Given the description of an element on the screen output the (x, y) to click on. 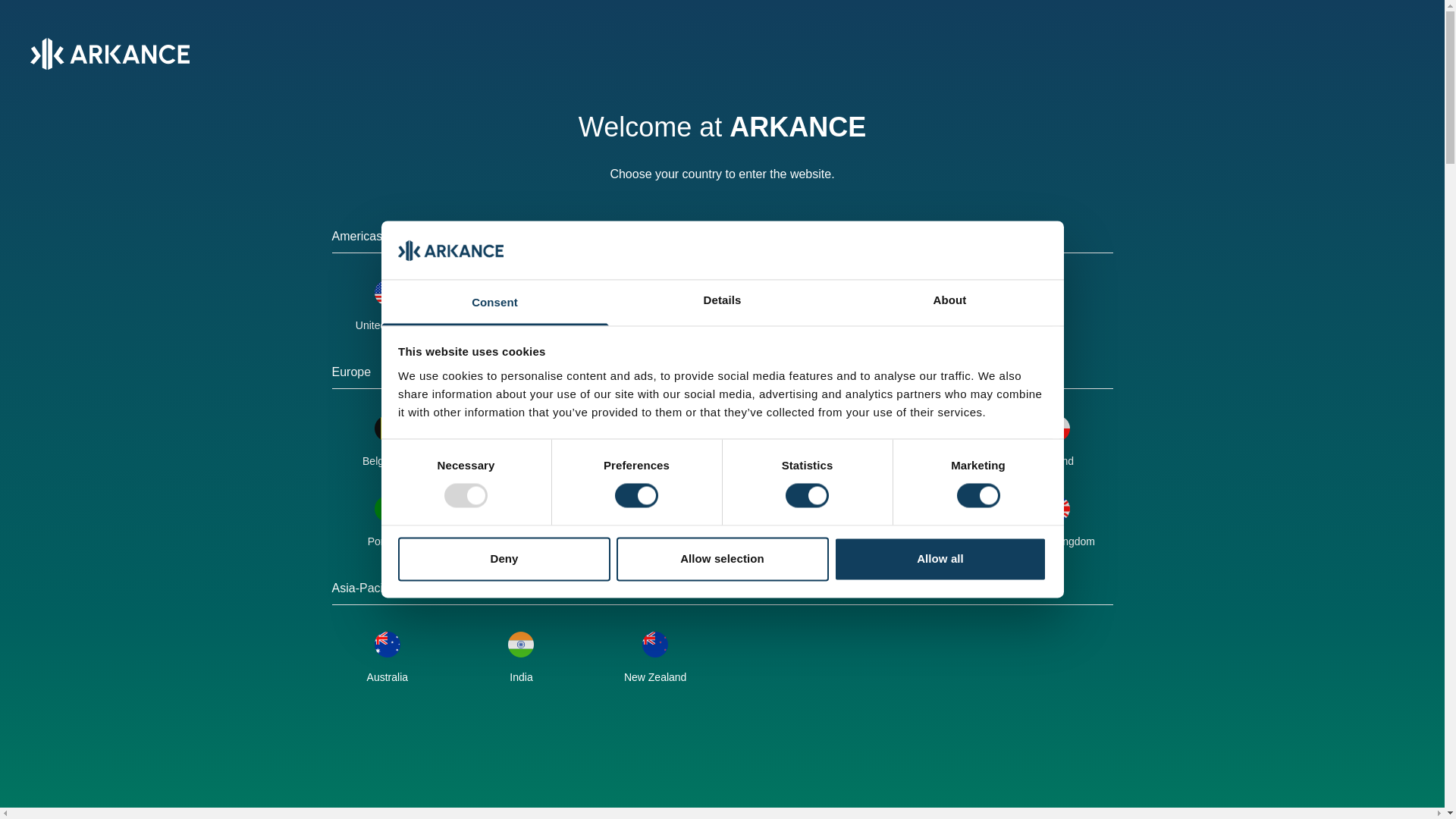
Consent (494, 302)
About (948, 302)
Details (721, 302)
